Given the description of an element on the screen output the (x, y) to click on. 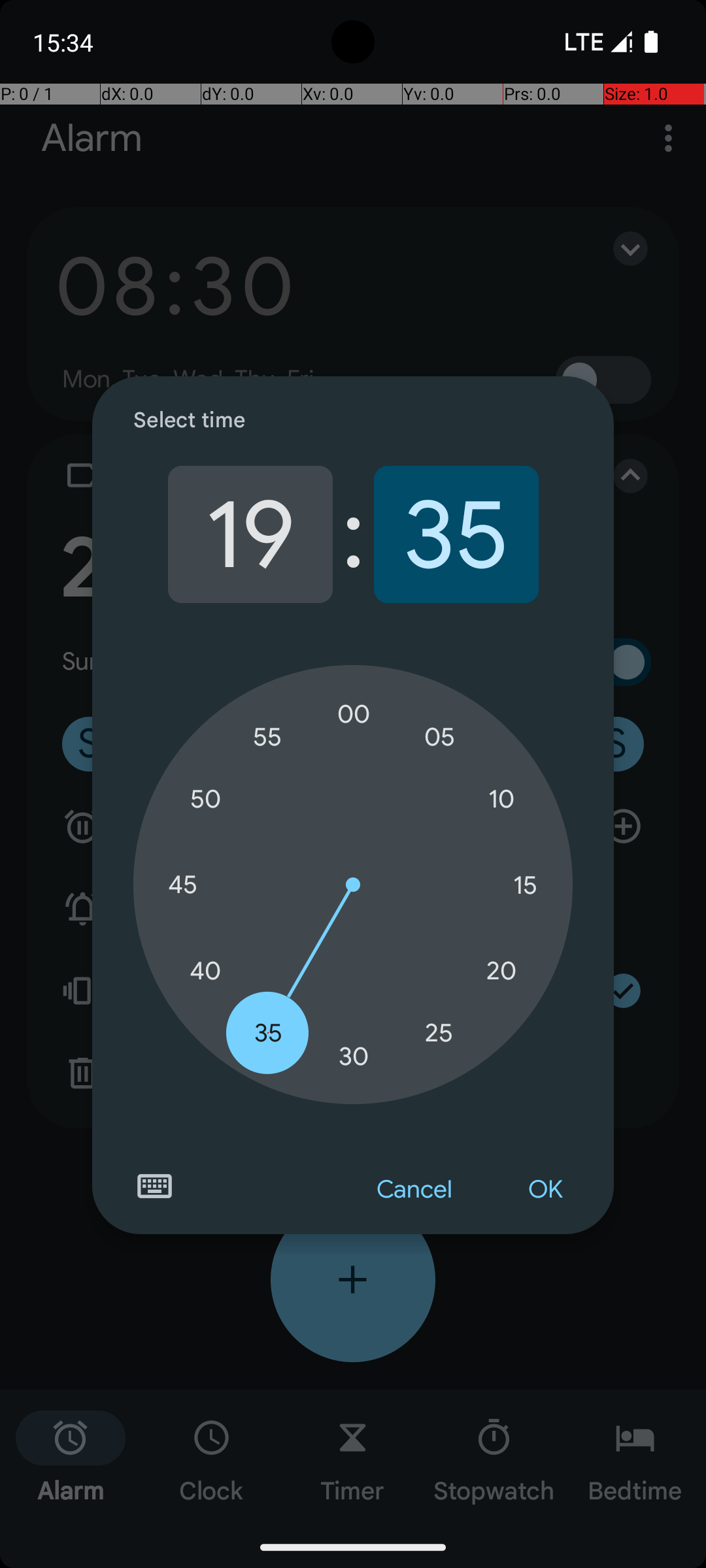
19 Element type: android.view.View (250, 534)
35 Element type: android.view.View (455, 534)
Switch to text input mode for the time input. Element type: android.widget.Button (154, 1186)
Cancel Element type: android.widget.Button (414, 1189)
OK Element type: android.widget.Button (545, 1189)
55 Element type: android.widget.TextView (267, 736)
50 Element type: android.widget.TextView (205, 798)
05 Element type: android.widget.TextView (439, 736)
10 Element type: android.widget.TextView (501, 798)
45 Element type: android.widget.TextView (182, 884)
15 Element type: android.widget.TextView (524, 885)
40 Element type: android.widget.TextView (205, 970)
30 Element type: android.widget.TextView (353, 1056)
25 Element type: android.widget.TextView (438, 1032)
20 Element type: android.widget.TextView (501, 970)
